Given the description of an element on the screen output the (x, y) to click on. 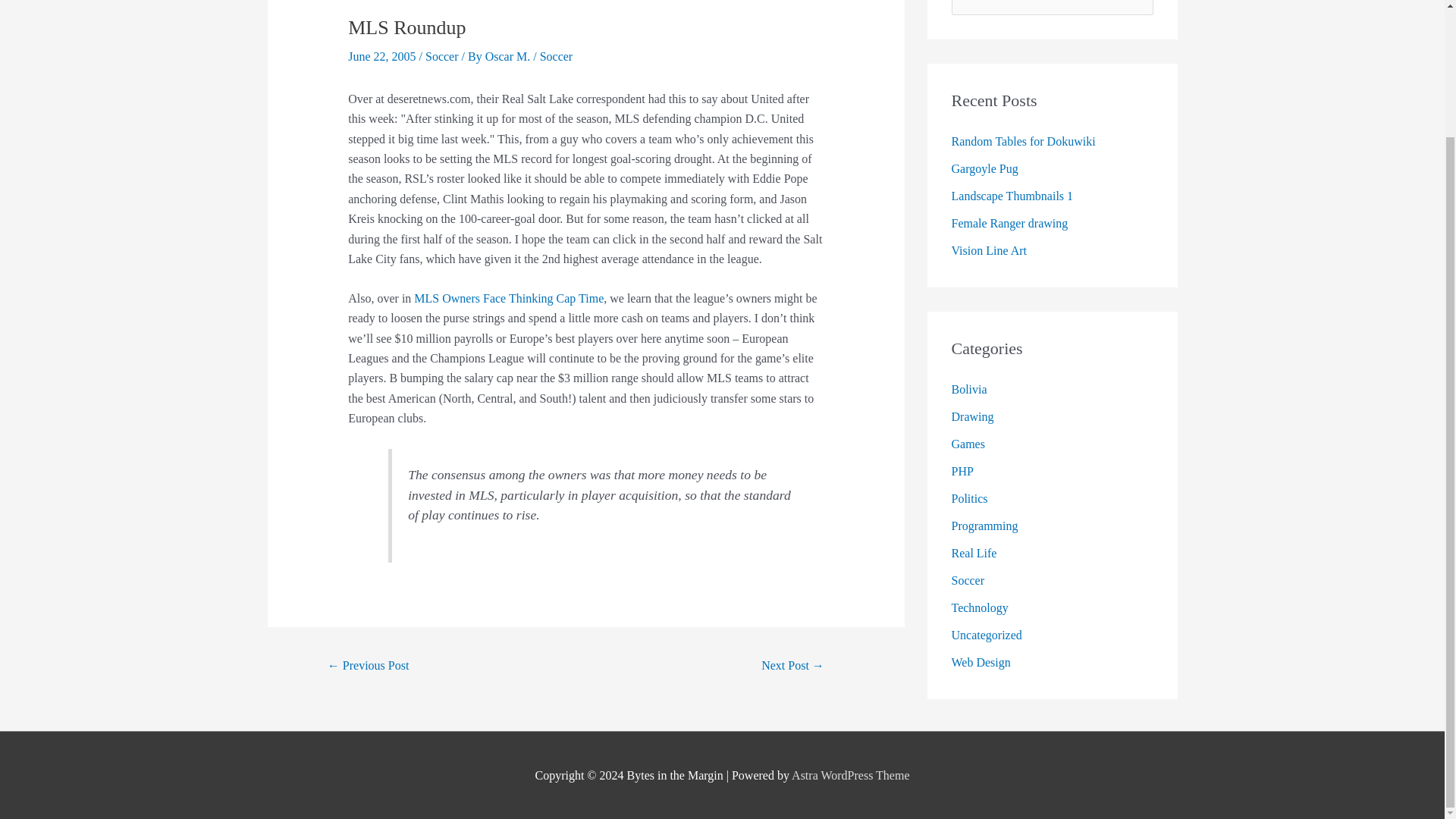
View all posts by Oscar M. (509, 56)
Digitally moved in (368, 666)
Bolivia (968, 389)
Politics (968, 498)
Uncategorized (986, 634)
Soccer (441, 56)
Search (1136, 3)
Gargoyle Pug (983, 168)
Web Design (980, 662)
Soccer (967, 580)
